Given the description of an element on the screen output the (x, y) to click on. 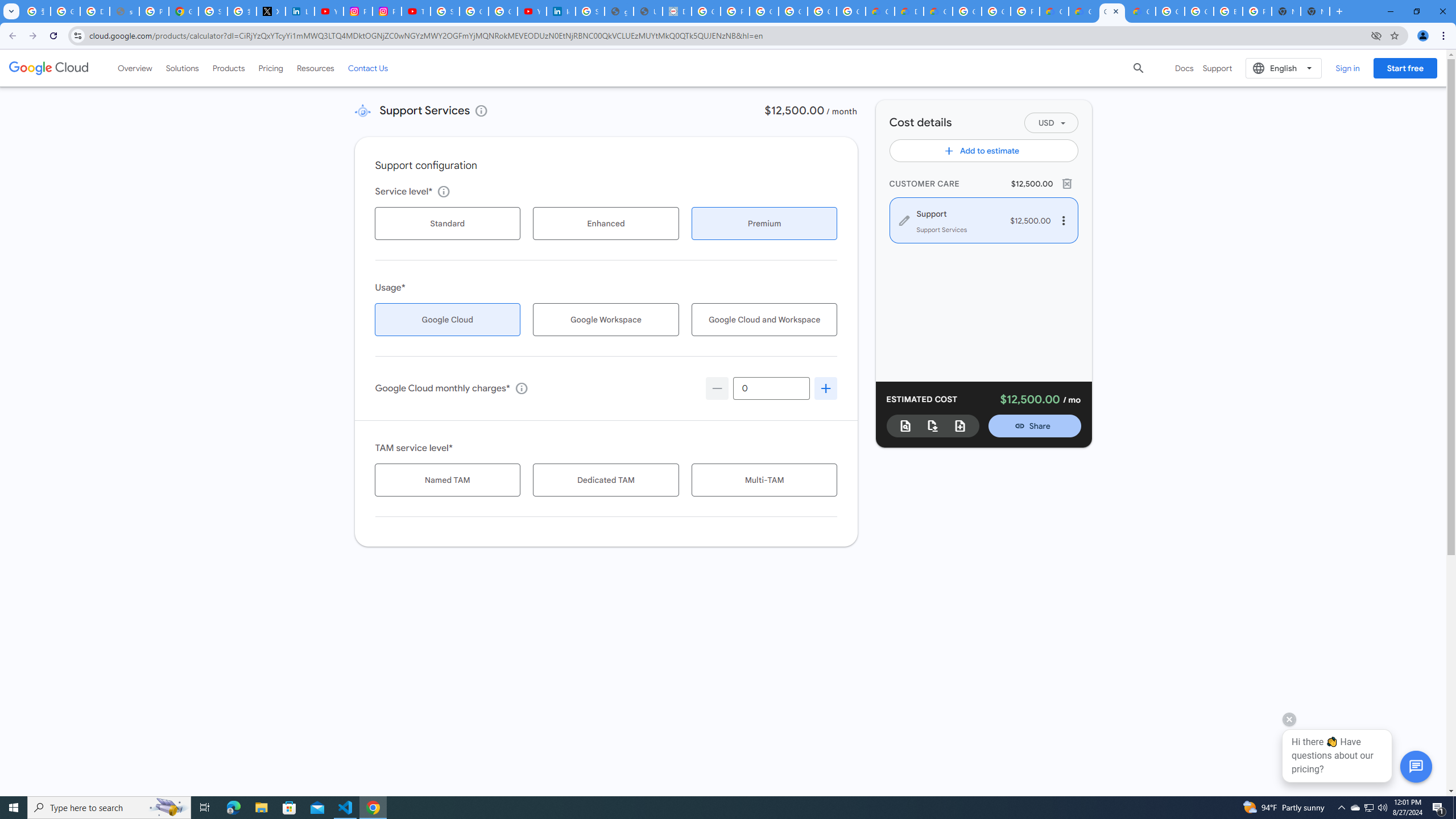
Google Cloud Platform (967, 11)
X (271, 11)
Sign in - Google Accounts (444, 11)
Google Cloud Pricing Calculator (1111, 11)
Data Privacy Framework (677, 11)
Open Share Estimate dialog (1034, 425)
